Given the description of an element on the screen output the (x, y) to click on. 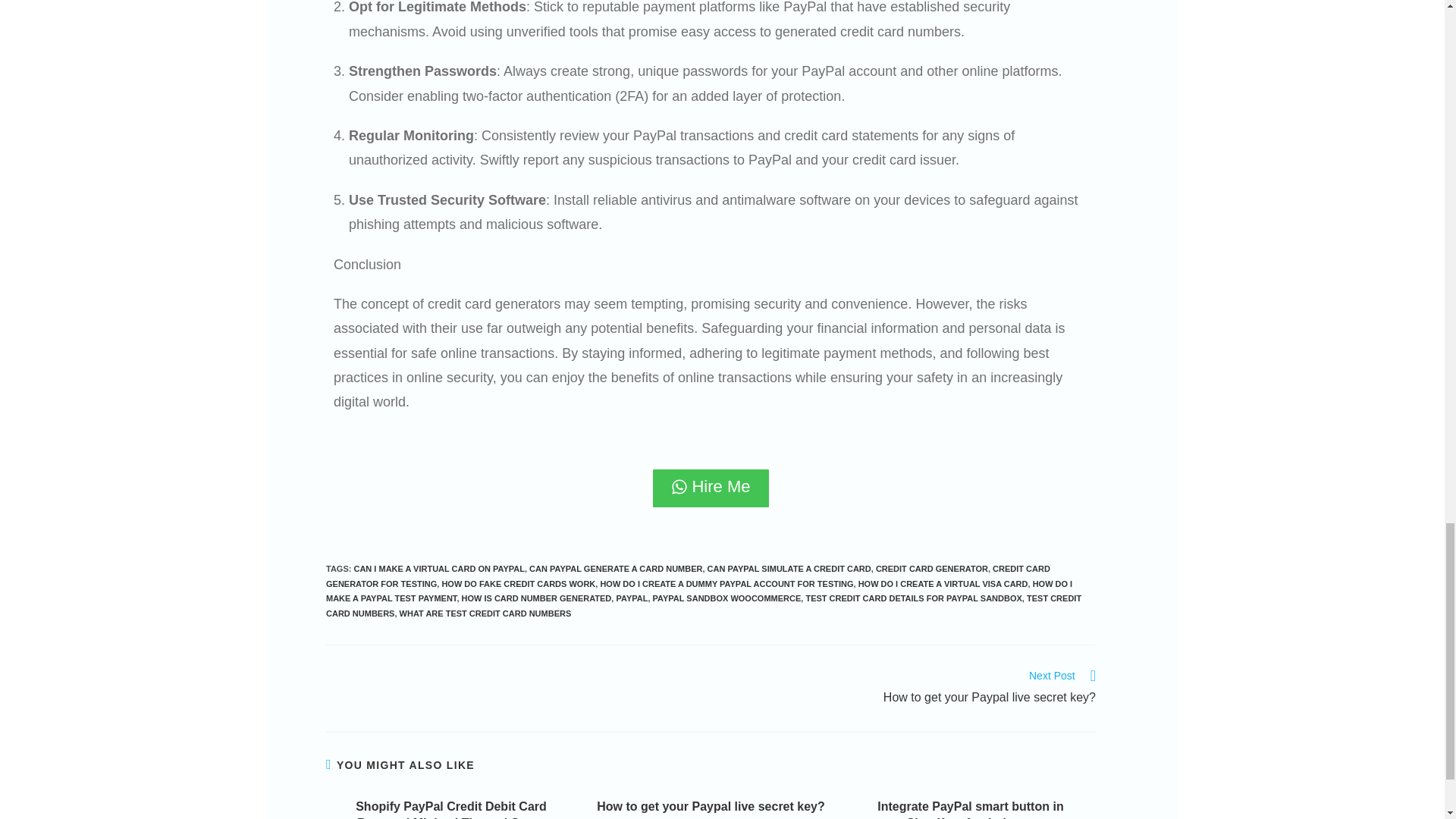
HOW DO I CREATE A VIRTUAL VISA CARD (943, 583)
PAYPAL SANDBOX WOOCOMMERCE (727, 597)
PAYPAL (631, 597)
Hire Me (710, 487)
HOW IS CARD NUMBER GENERATED (536, 597)
HOW DO I CREATE A DUMMY PAYPAL ACCOUNT FOR TESTING (726, 583)
HOW DO FAKE CREDIT CARDS WORK (518, 583)
CAN I MAKE A VIRTUAL CARD ON PAYPAL (438, 568)
TEST CREDIT CARD NUMBERS (703, 605)
TEST CREDIT CARD DETAILS FOR PAYPAL SANDBOX (913, 597)
